Given the description of an element on the screen output the (x, y) to click on. 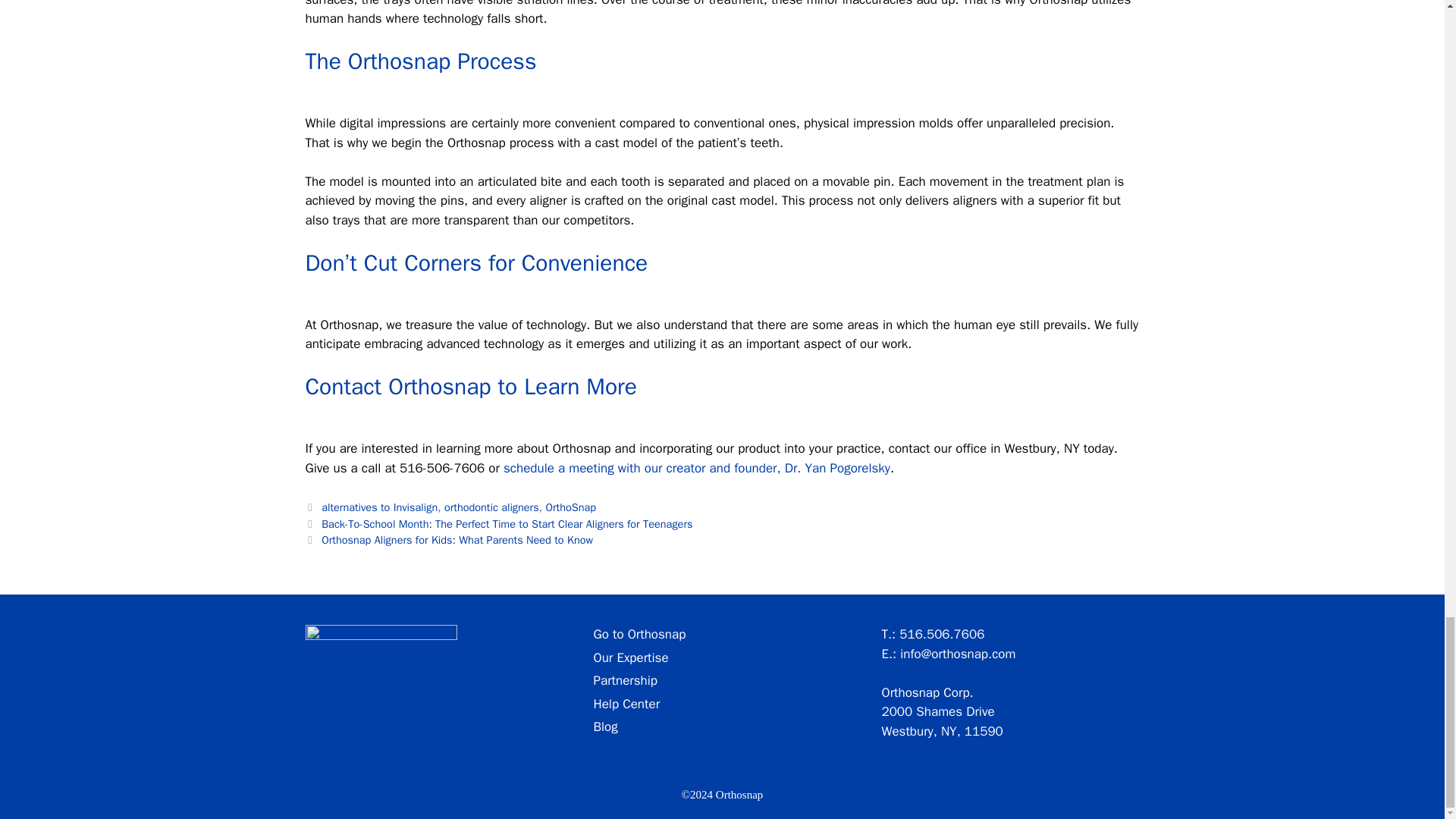
Previous (498, 523)
OrthoSnap (569, 507)
Our Expertise (630, 657)
Go to Orthosnap (638, 634)
T.: 516.506.7606 (932, 634)
Next (448, 540)
Help Center (625, 703)
Partnership (625, 680)
Blog (604, 726)
